Given the description of an element on the screen output the (x, y) to click on. 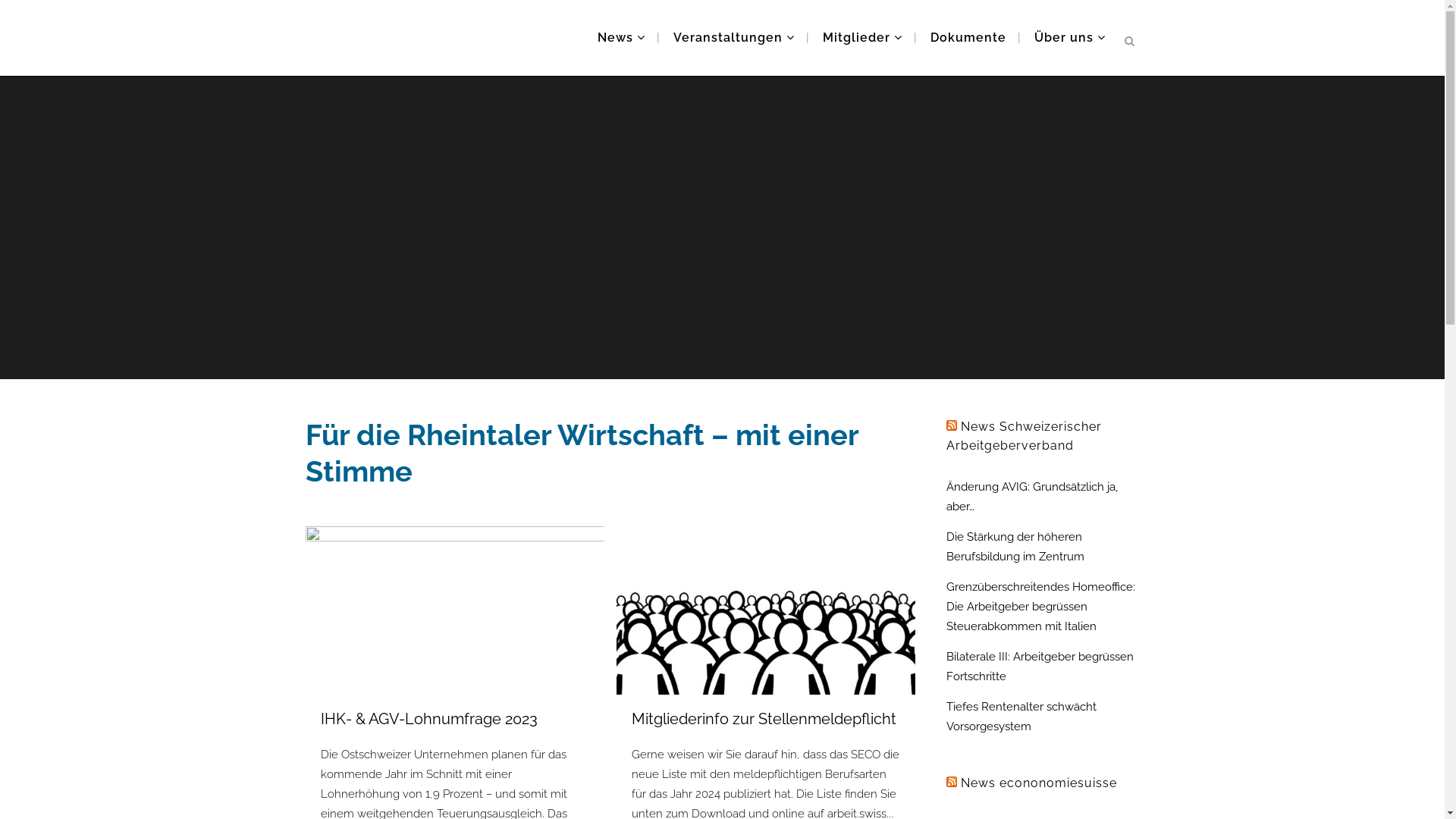
Mitglieder Element type: text (862, 37)
News Element type: text (620, 37)
Dokumente Element type: text (968, 37)
Mitgliederinfo zur Stellenmeldepflicht Element type: text (763, 718)
News econonomiesuisse Element type: text (1038, 782)
News Schweizerischer Arbeitgeberverband Element type: text (1023, 435)
IHK- & AGV-Lohnumfrage 2023 Element type: text (428, 718)
Veranstaltungen Element type: text (732, 37)
